Given the description of an element on the screen output the (x, y) to click on. 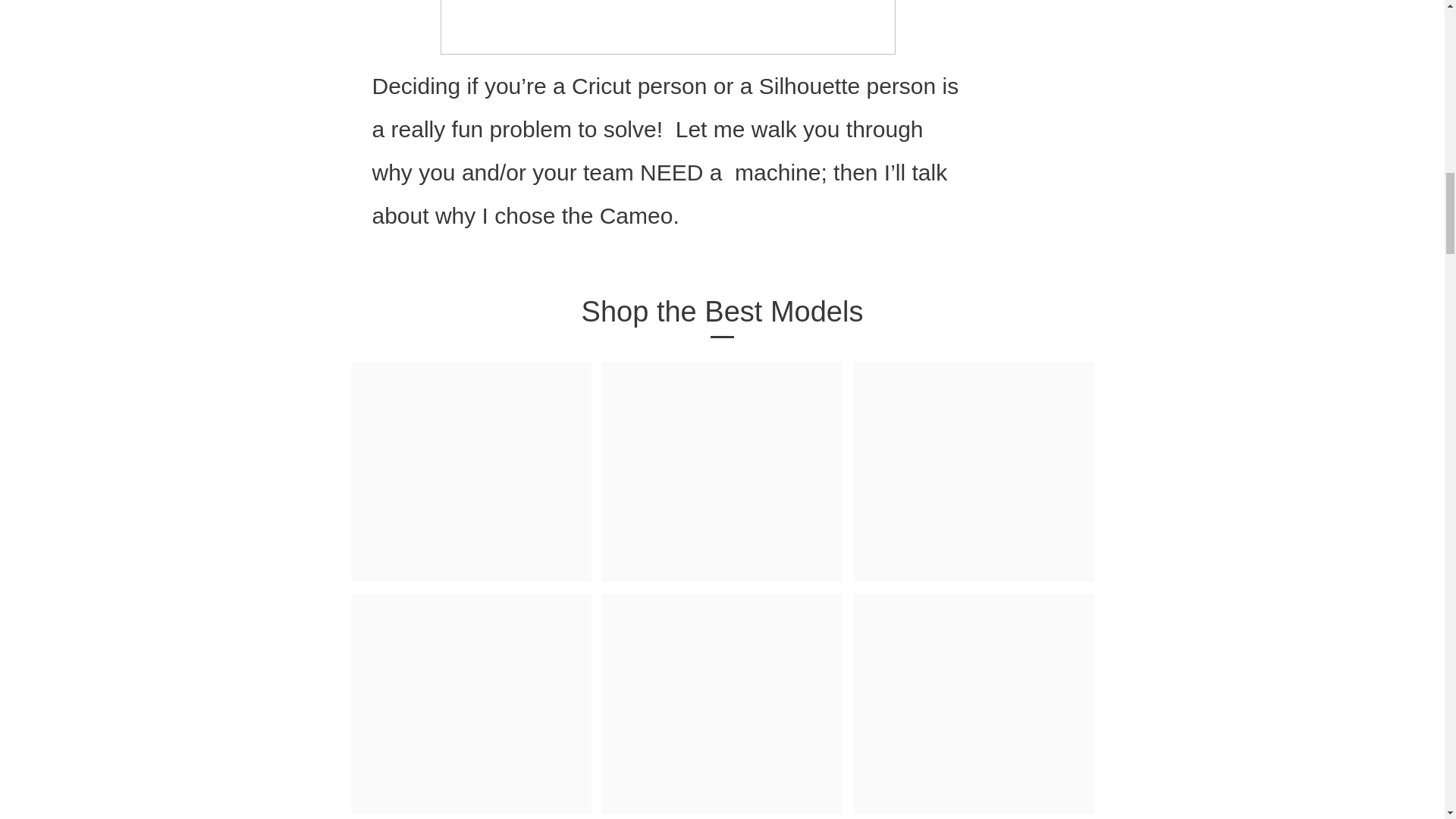
quick feedback slips freebie.png (667, 27)
